Given the description of an element on the screen output the (x, y) to click on. 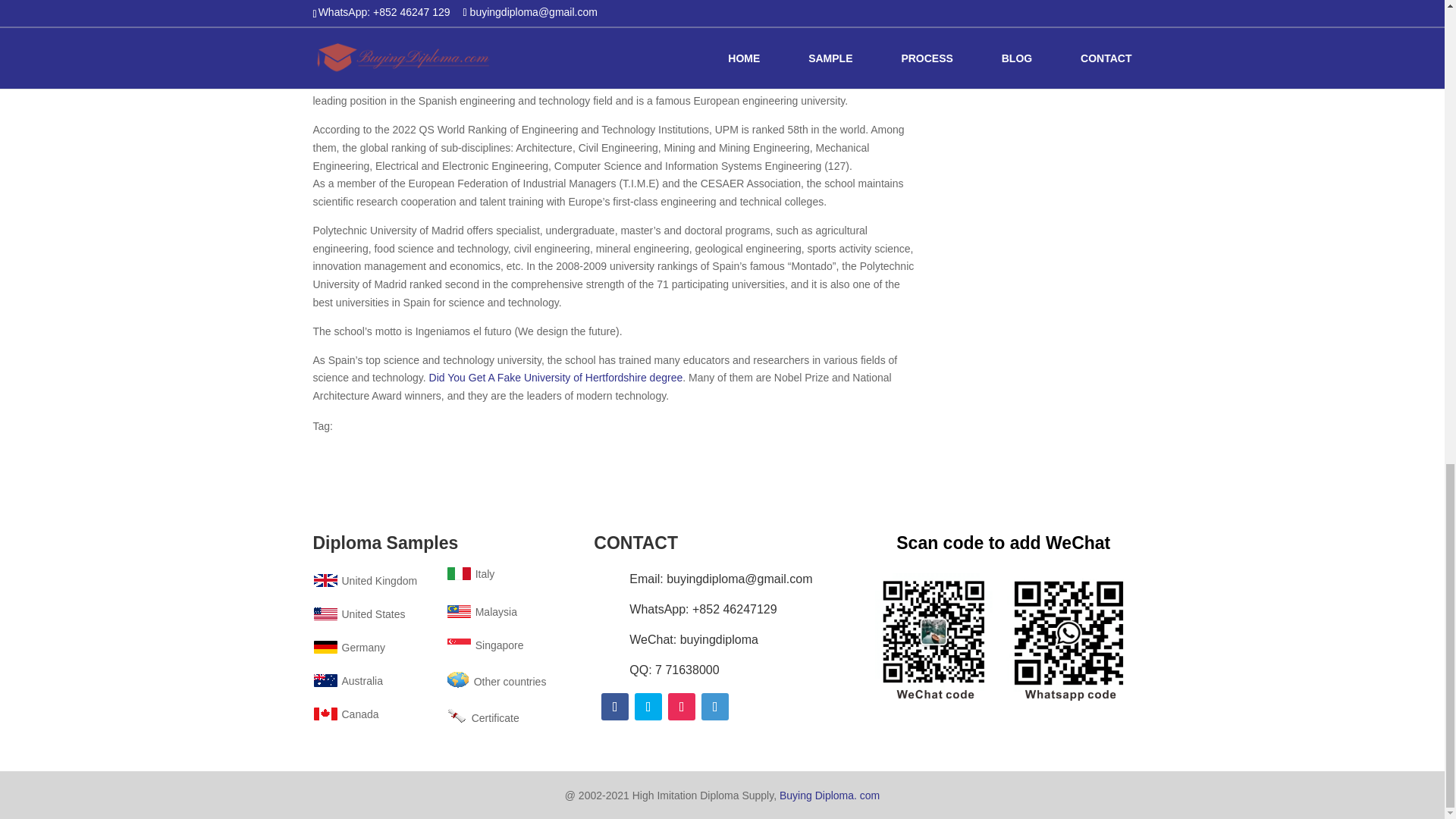
Did You Get A Fake University of Hertfordshire degree (555, 377)
United Kingdom (364, 581)
Follow on QQ (715, 706)
Wecha-code (1038, 34)
Follow on Twitter (648, 706)
United States (358, 614)
Australia (347, 681)
Wecha-code (1003, 636)
Follow on Instagram (681, 706)
Follow on Facebook (614, 706)
